Given the description of an element on the screen output the (x, y) to click on. 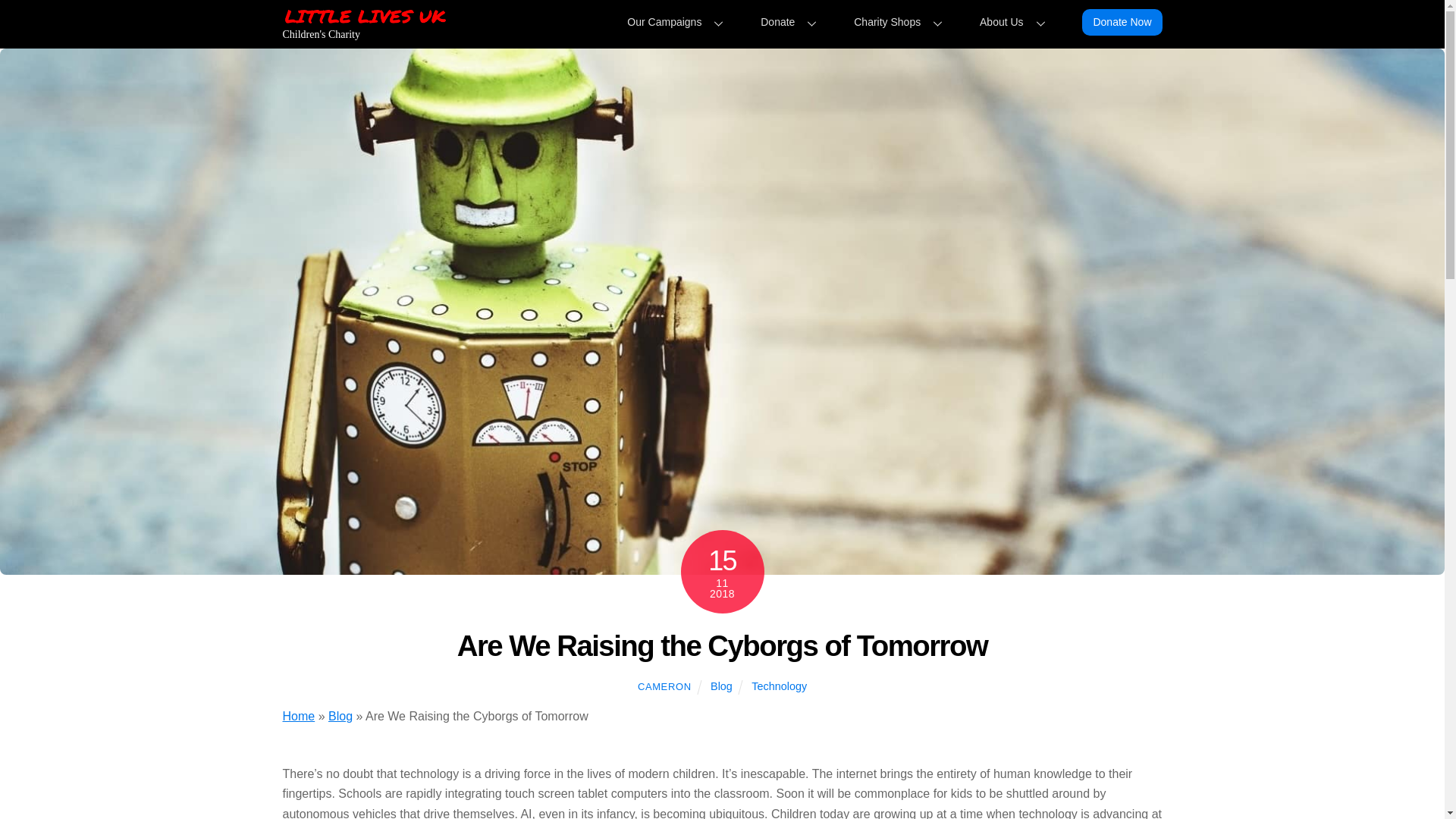
Home (298, 716)
Blog (340, 716)
Home (298, 716)
Technology (778, 686)
Donate (791, 21)
Are We Raising the Cyborgs of Tomorrow (722, 645)
Blog (721, 19)
Our Campaigns (721, 686)
Charity Shops (678, 21)
